Given the description of an element on the screen output the (x, y) to click on. 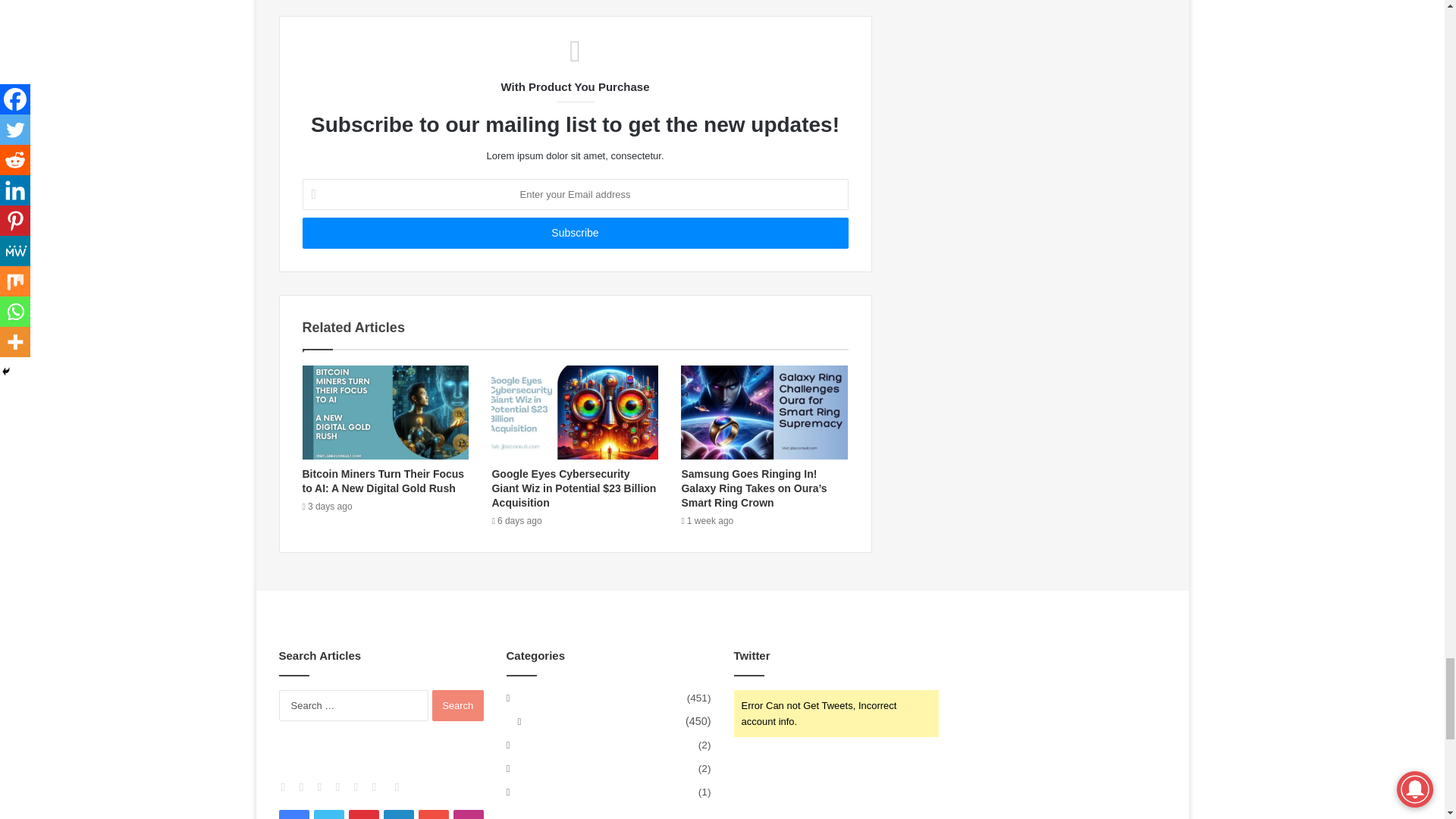
Search (457, 705)
Search (457, 705)
Subscribe (574, 232)
